Given the description of an element on the screen output the (x, y) to click on. 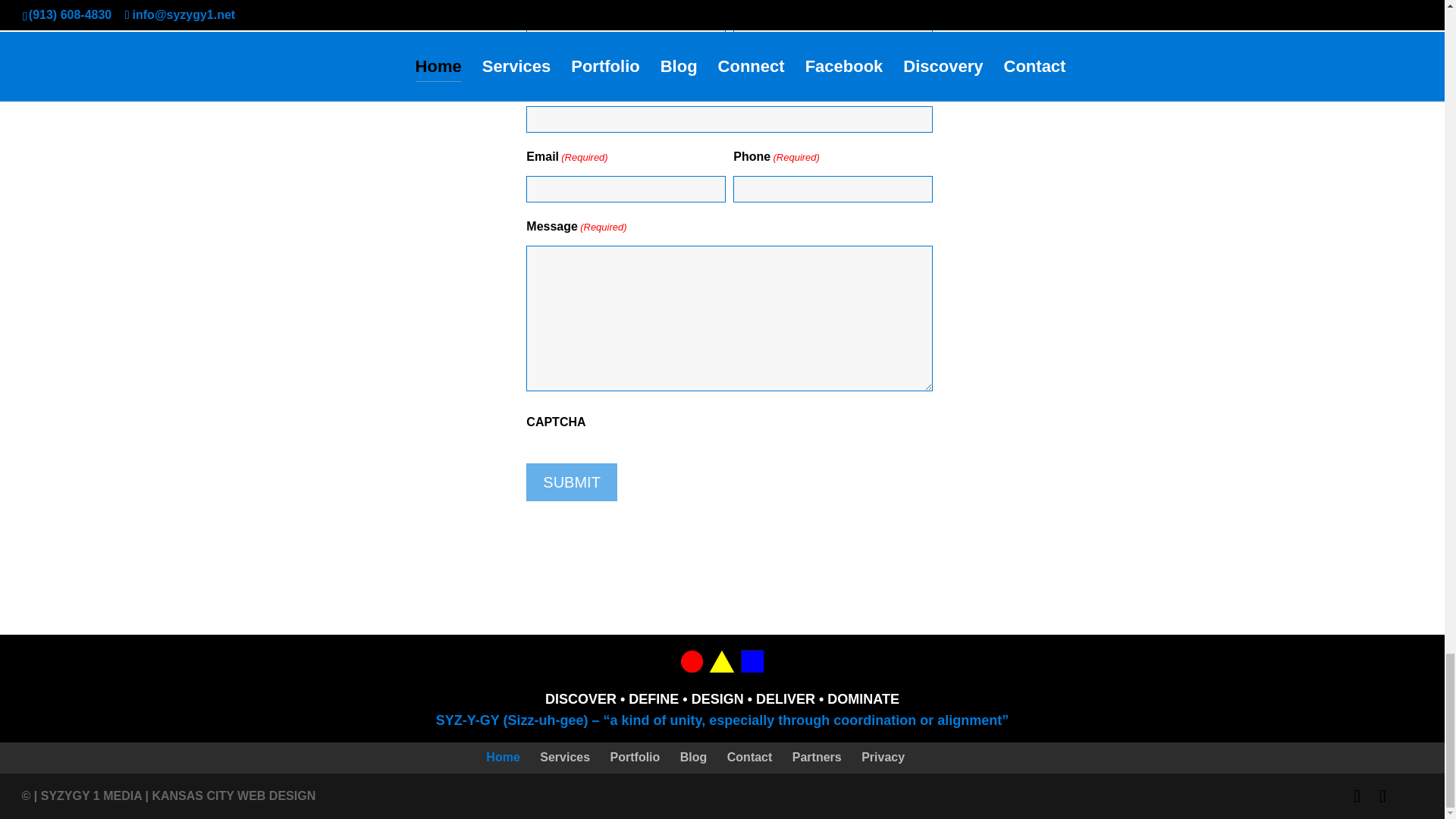
Submit (571, 482)
Partners (816, 757)
Home (502, 757)
Services (564, 757)
Privacy (882, 757)
Contact (749, 757)
Submit (571, 482)
Portfolio (635, 757)
Blog (693, 757)
